Given the description of an element on the screen output the (x, y) to click on. 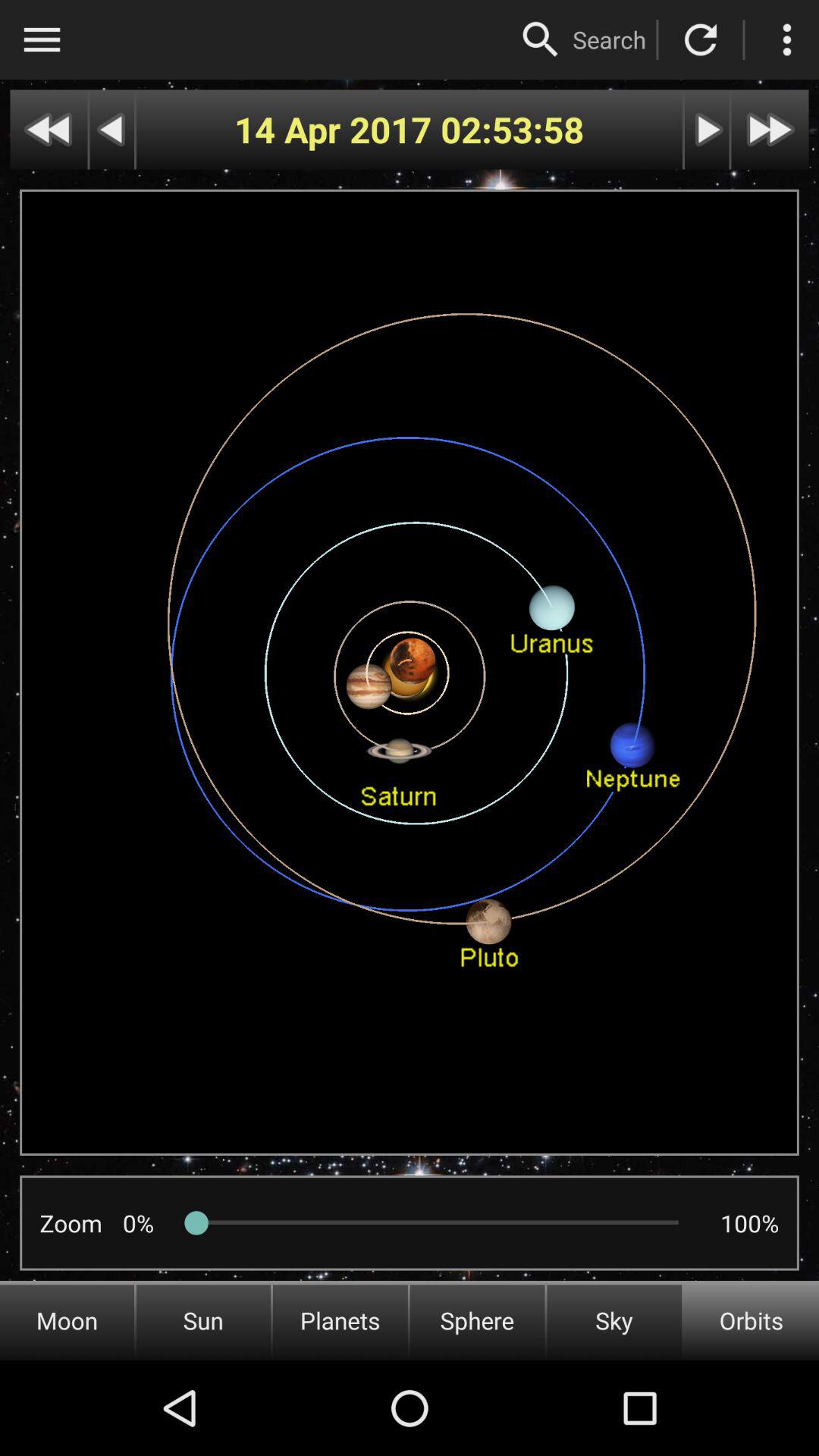
go back one (111, 129)
